Given the description of an element on the screen output the (x, y) to click on. 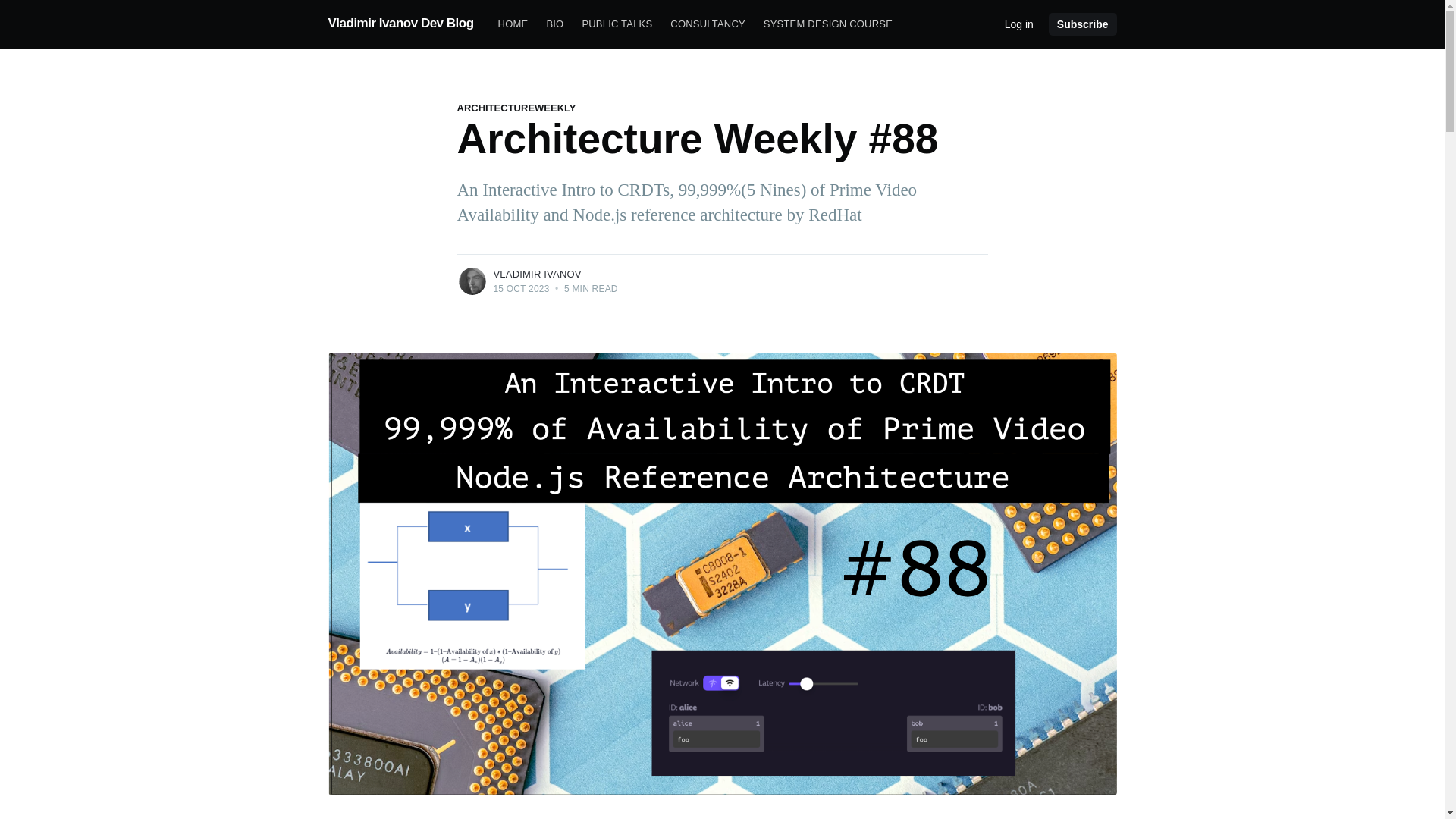
Log in (1018, 23)
Subscribe (1082, 23)
CONSULTANCY (707, 24)
SYSTEM DESIGN COURSE (827, 24)
ARCHITECTUREWEEKLY (516, 108)
VLADIMIR IVANOV (536, 274)
Vladimir Ivanov Dev Blog (400, 23)
HOME (513, 24)
PUBLIC TALKS (616, 24)
BIO (554, 24)
